Given the description of an element on the screen output the (x, y) to click on. 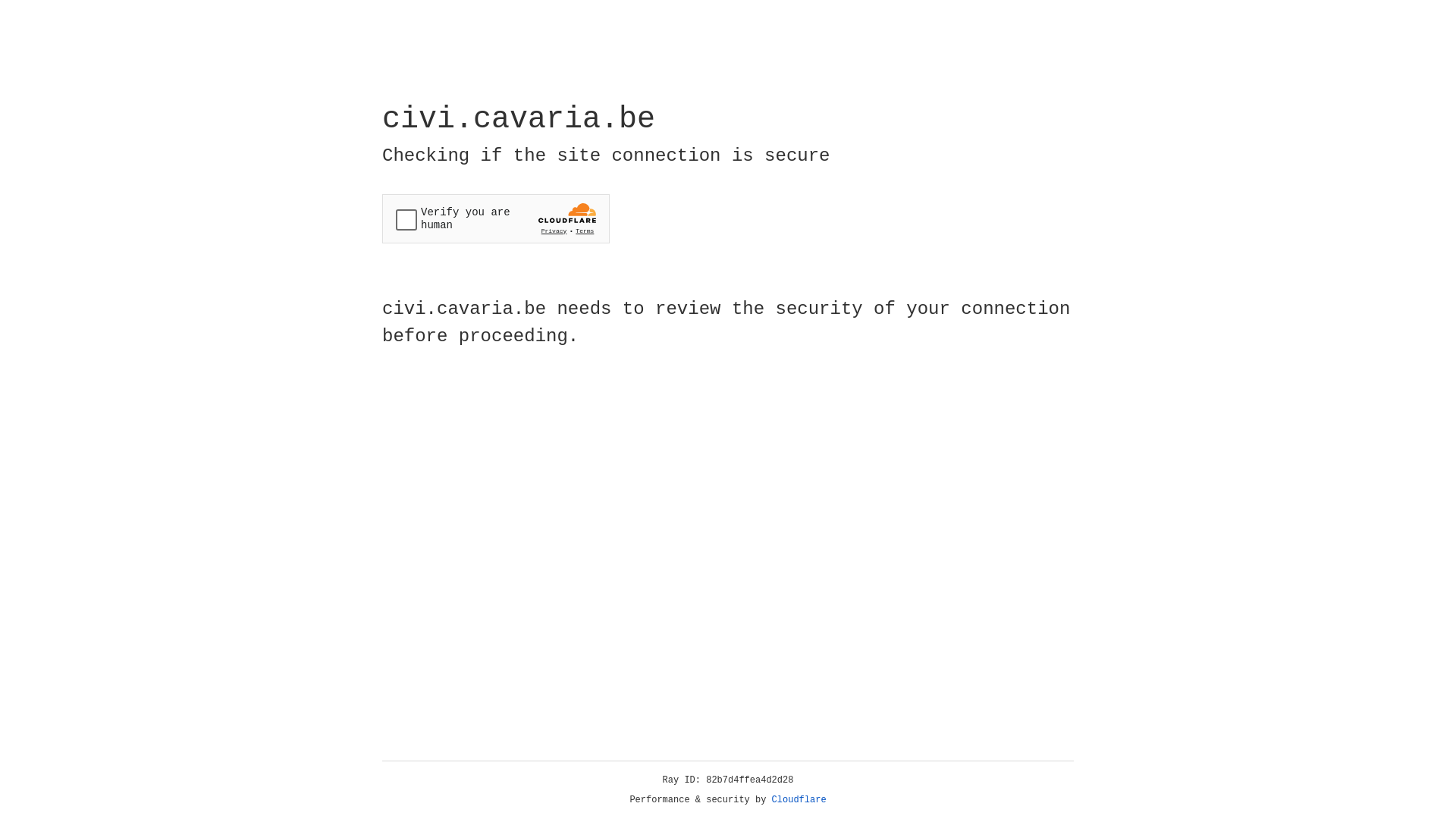
Cloudflare Element type: text (798, 799)
Widget containing a Cloudflare security challenge Element type: hover (495, 218)
